Given the description of an element on the screen output the (x, y) to click on. 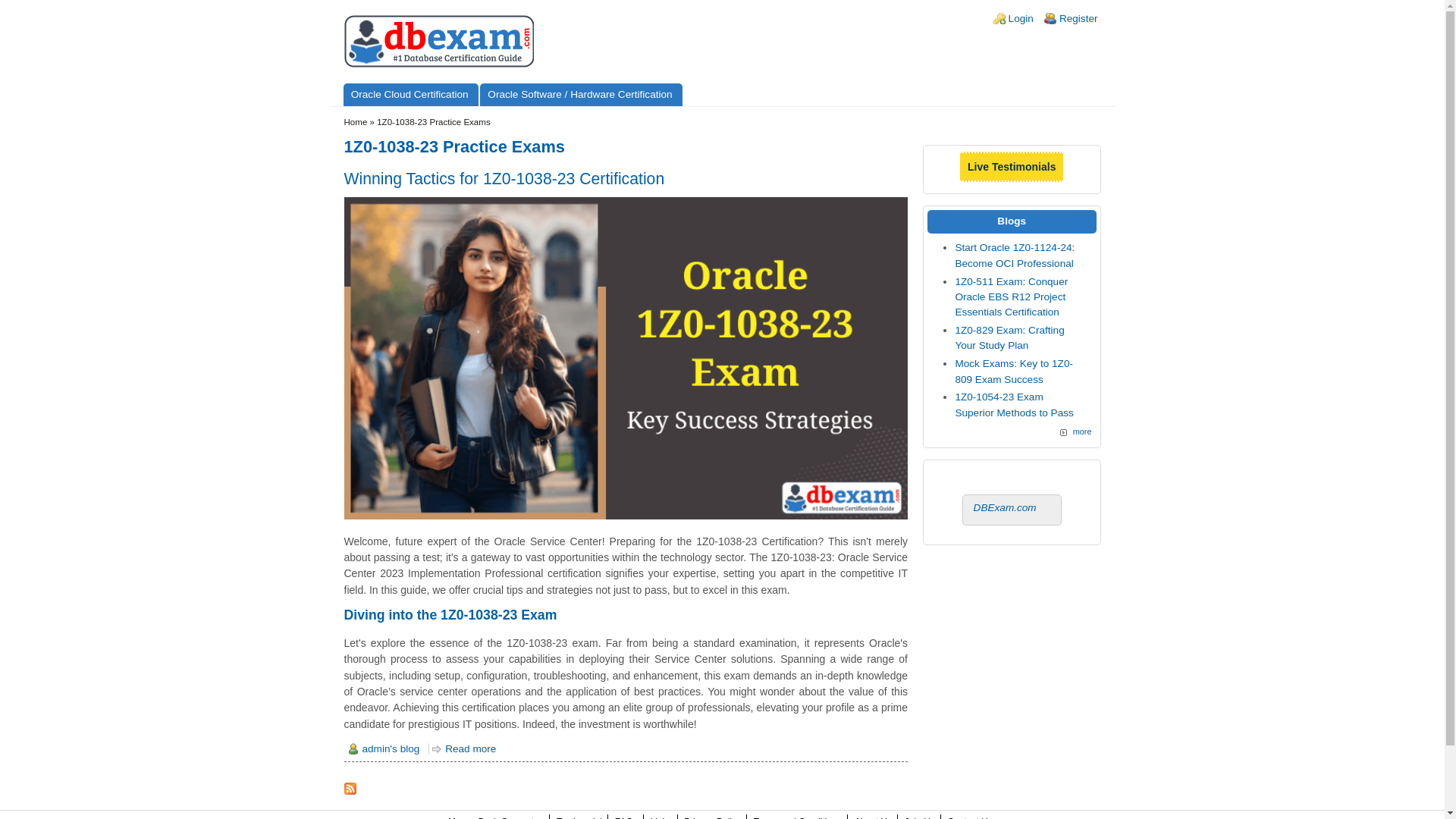
Privacy Policy (712, 817)
more (1075, 430)
Read admin's latest blog entries. (385, 748)
Mock Exams: Key to 1Z0-809 Exam Success (1014, 370)
Terms and Conditions (797, 817)
Register (1078, 18)
Winning Tactics for 1Z0-1038-23 Certification (504, 178)
About Us (872, 817)
Skip to search (32, 0)
Start Oracle 1Z0-1124-24: Become OCI Professional (1014, 254)
Oracle Cloud Certification (410, 94)
Live Testimonials (1010, 166)
Read more (464, 748)
Home (355, 121)
